Given the description of an element on the screen output the (x, y) to click on. 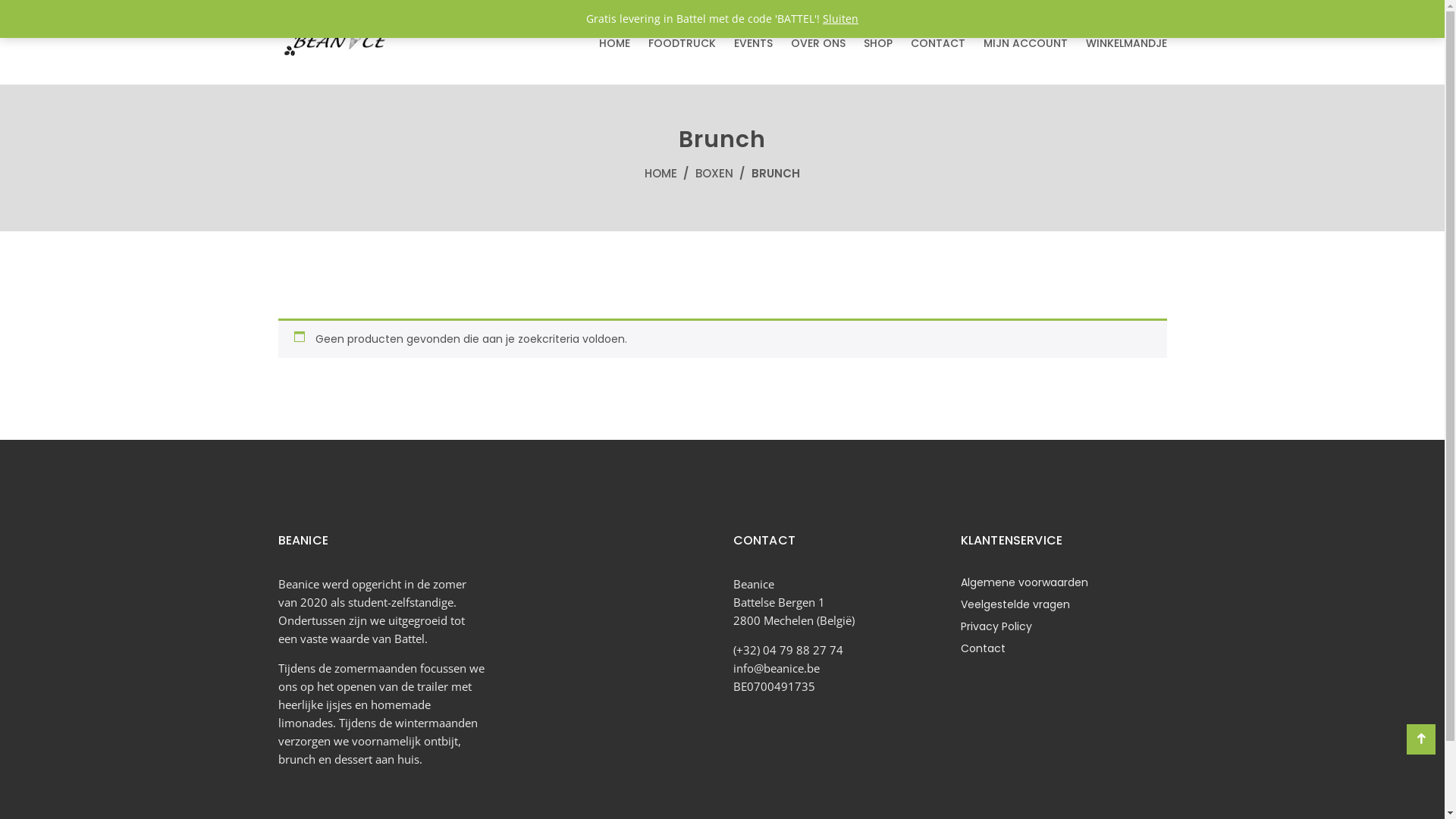
CONTACT Element type: text (937, 42)
SHOP Element type: text (876, 42)
WINKELMANDJE Element type: text (1126, 42)
HOME Element type: text (660, 173)
HOME Element type: text (614, 42)
Contact Element type: text (982, 647)
FOODTRUCK Element type: text (681, 42)
BOXEN Element type: text (714, 173)
Veelgestelde vragen Element type: text (1014, 603)
MIJN ACCOUNT Element type: text (1024, 42)
Algemene voorwaarden Element type: text (1023, 581)
Privacy Policy Element type: text (995, 625)
OVER ONS Element type: text (817, 42)
EVENTS Element type: text (753, 42)
Sluiten Element type: text (840, 18)
